Given the description of an element on the screen output the (x, y) to click on. 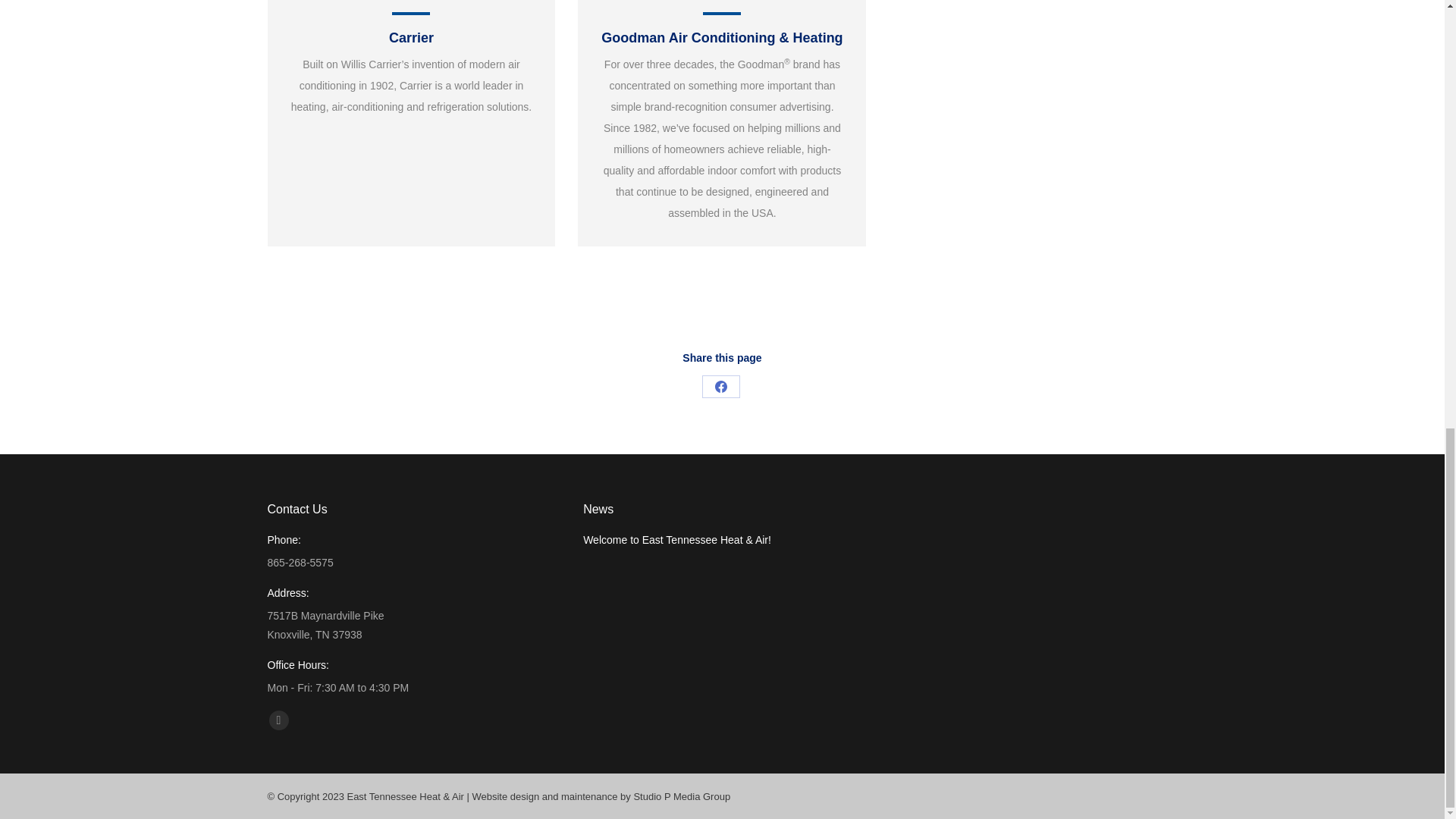
Facebook (720, 386)
Share on Facebook (720, 386)
Facebook page opens in new window (277, 720)
